Given the description of an element on the screen output the (x, y) to click on. 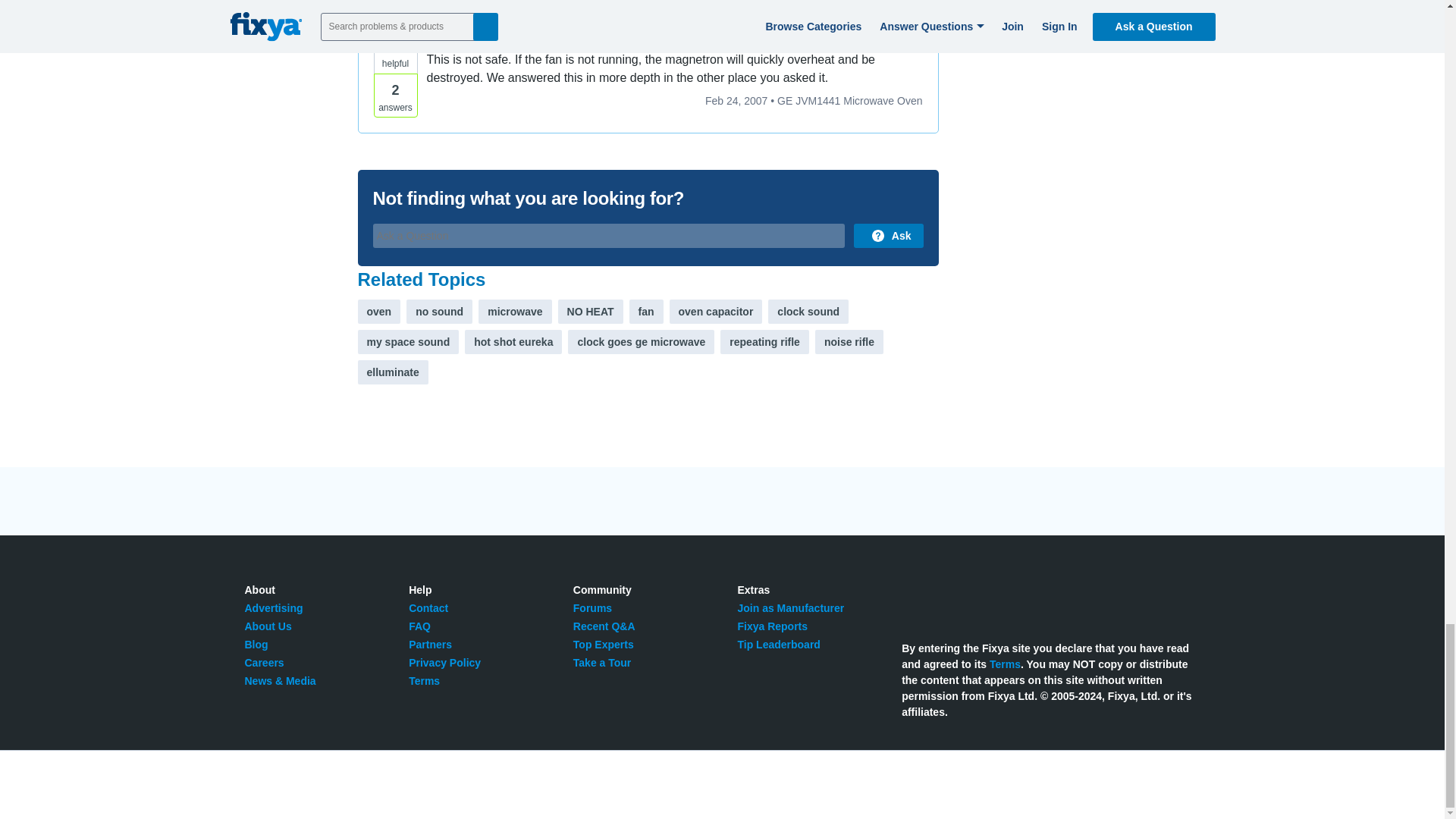
Ask (888, 235)
